Given the description of an element on the screen output the (x, y) to click on. 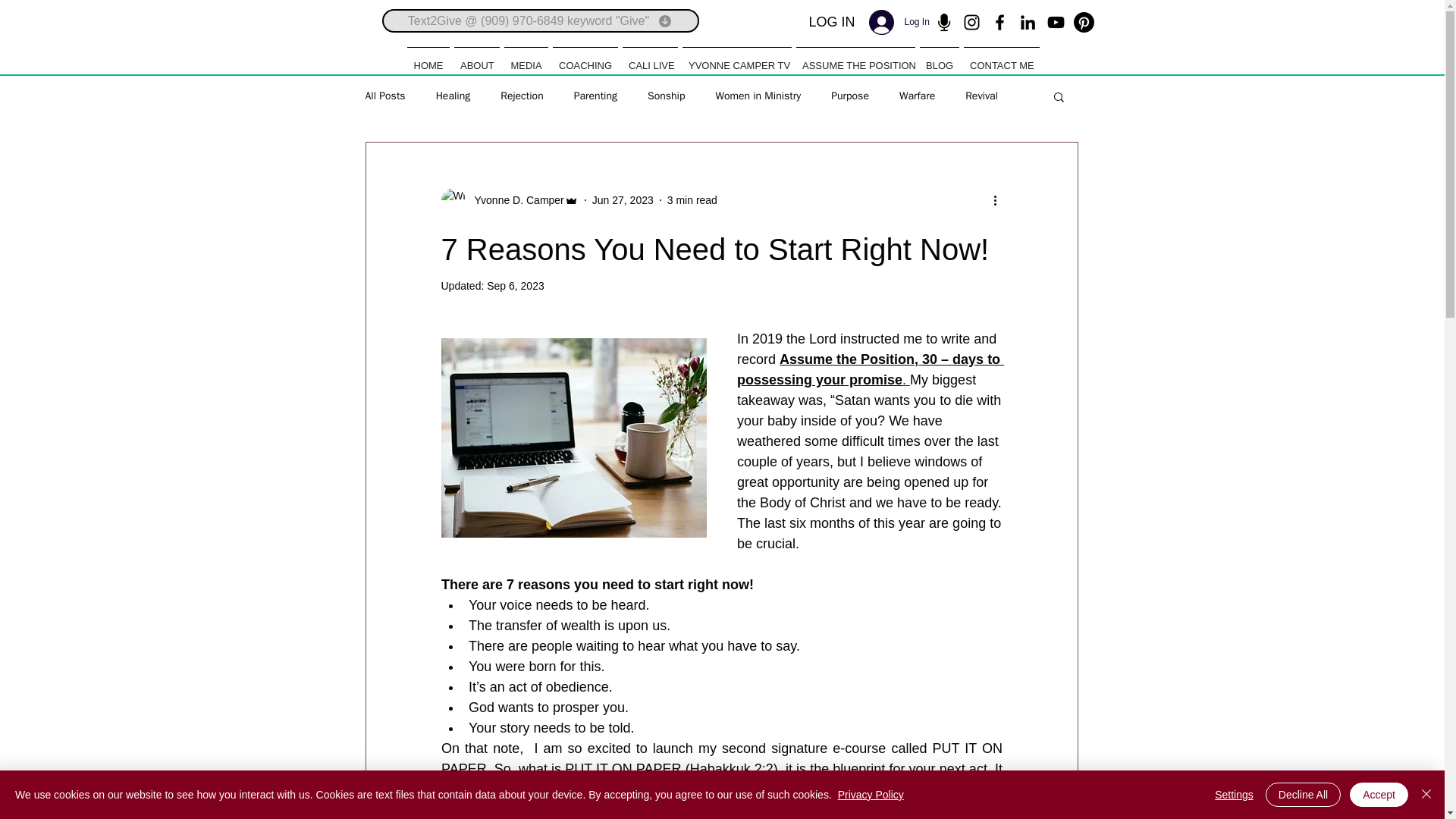
Log In (891, 21)
Rejection (521, 96)
CONTACT ME (1001, 58)
Healing (452, 96)
Yvonne D. Camper (514, 200)
Warfare (916, 96)
Purpose (850, 96)
Parenting (595, 96)
CALI LIVE (649, 58)
Sonship (665, 96)
BLOG (938, 58)
Sep 6, 2023 (515, 285)
All Posts (385, 96)
HOME (427, 58)
Women in Ministry (757, 96)
